Given the description of an element on the screen output the (x, y) to click on. 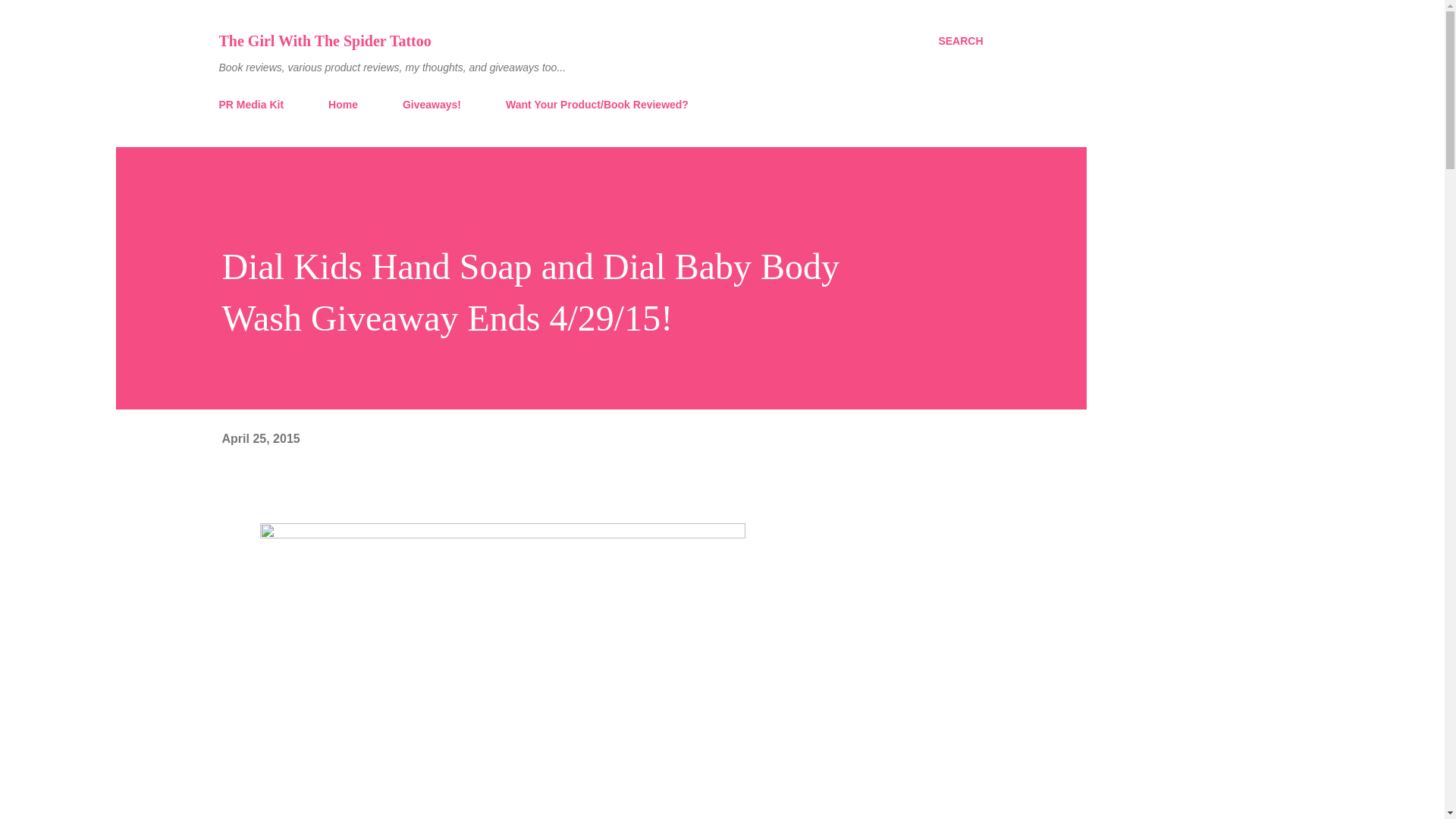
SEARCH (959, 40)
April 25, 2015 (260, 438)
The Girl With The Spider Tattoo (324, 40)
Giveaways! (431, 104)
Home (342, 104)
permanent link (260, 438)
PR Media Kit (255, 104)
